Given the description of an element on the screen output the (x, y) to click on. 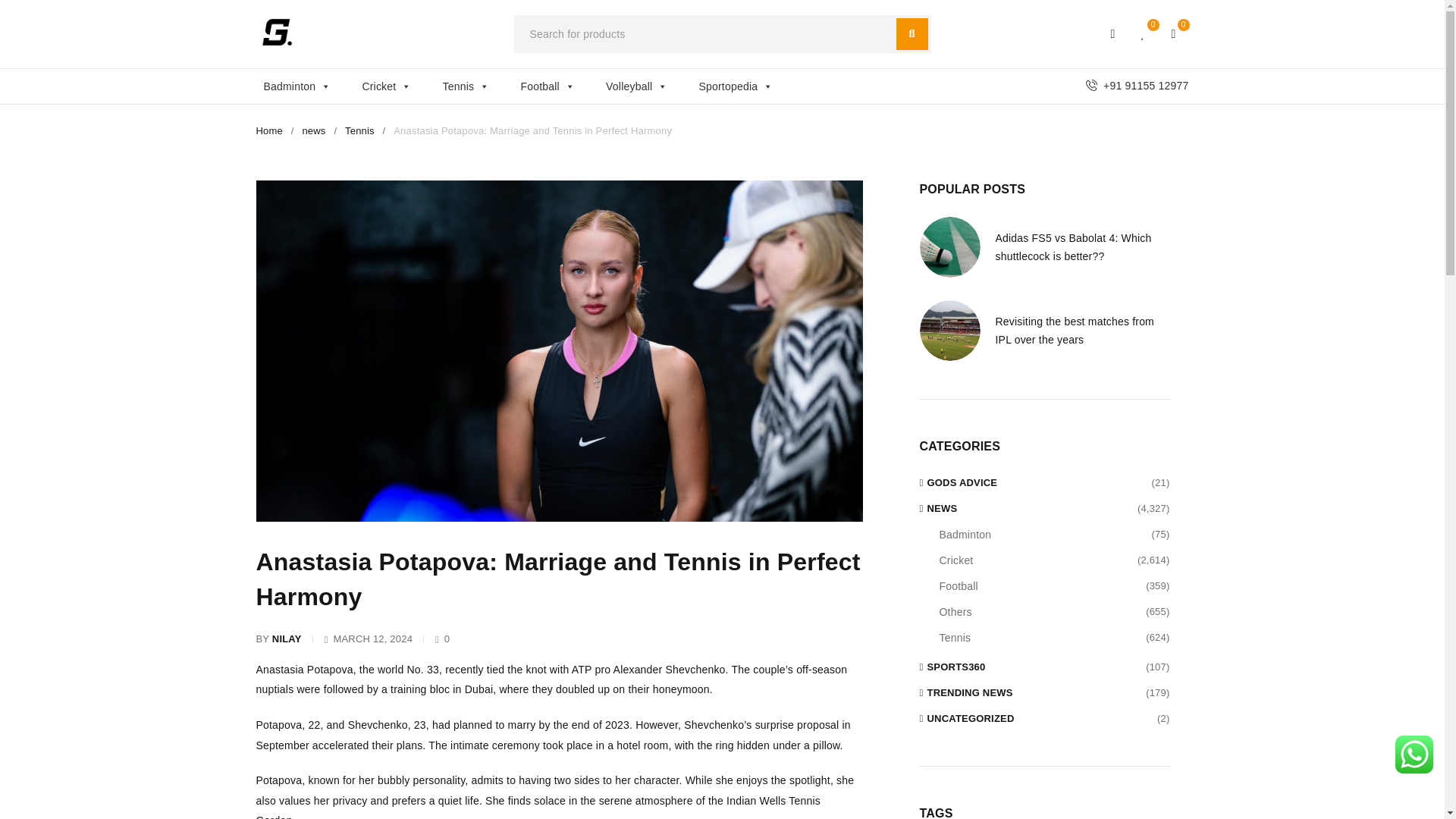
0 (1173, 33)
Search (912, 33)
Wishlist (1143, 33)
thegodofsports (277, 32)
Badminton (304, 86)
Search (912, 33)
Login or Register (1112, 33)
0 (1143, 33)
View your shopping cart (1173, 33)
Posts by Nilay (286, 639)
